Given the description of an element on the screen output the (x, y) to click on. 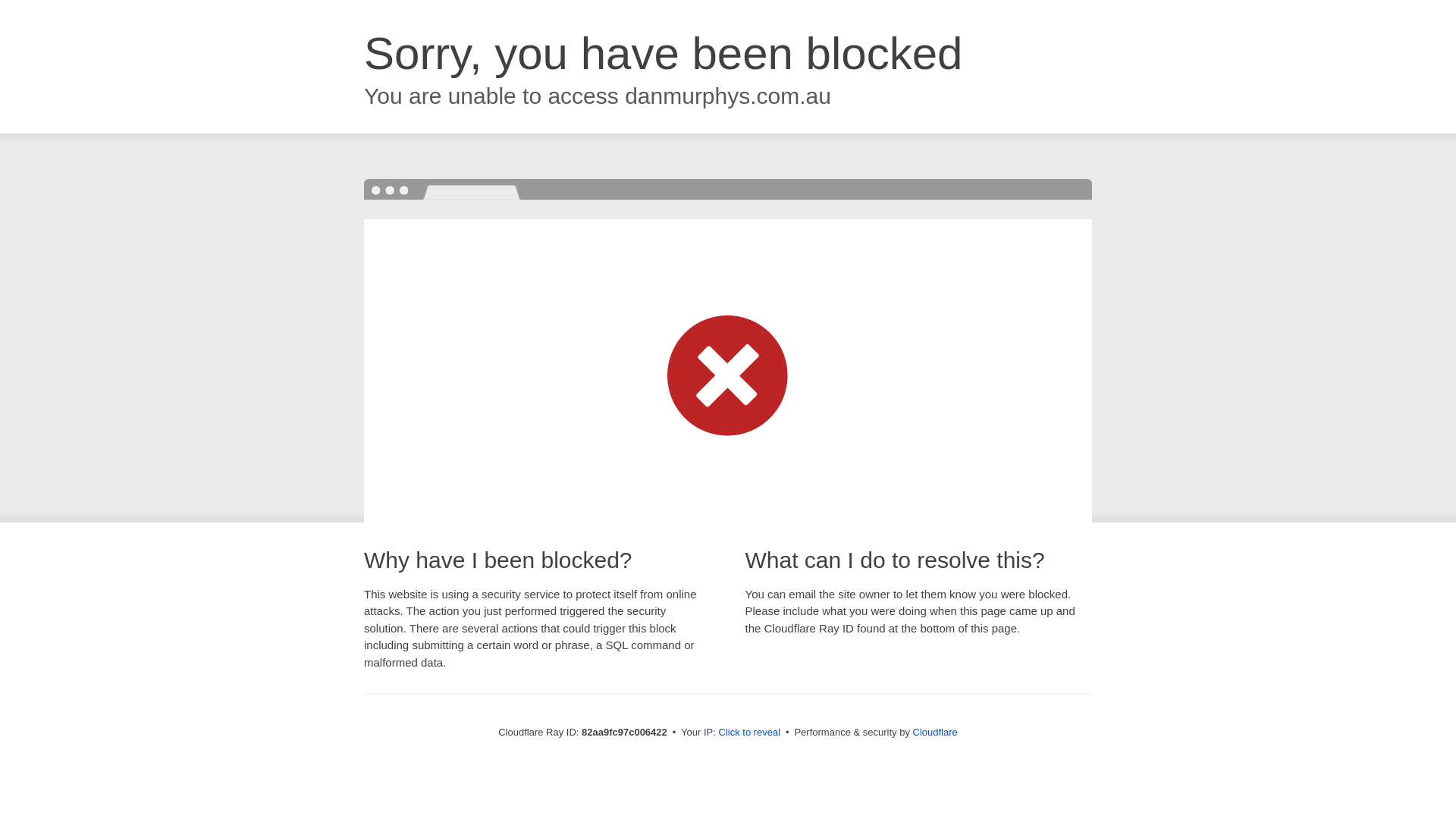
Click to reveal Element type: text (749, 732)
Cloudflare Element type: text (935, 731)
